Given the description of an element on the screen output the (x, y) to click on. 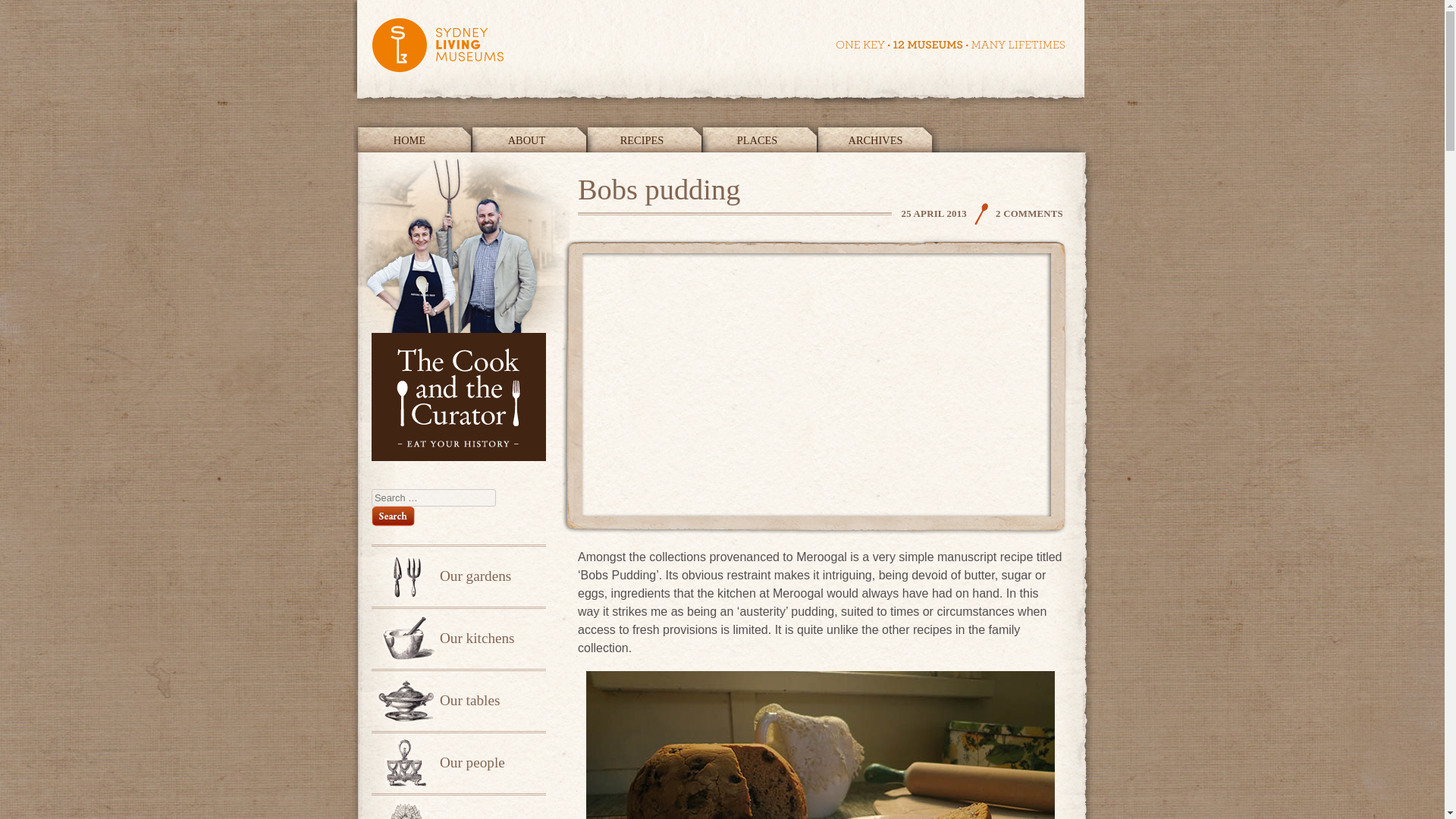
Lost arts (458, 806)
SKIP TO CONTENT (409, 137)
Our tables (458, 700)
Our kitchens (458, 637)
RECIPES (645, 137)
Our gardens (458, 575)
ARCHIVES (878, 137)
Search (392, 516)
Search (392, 516)
Sydney Living Museums (718, 52)
